Given the description of an element on the screen output the (x, y) to click on. 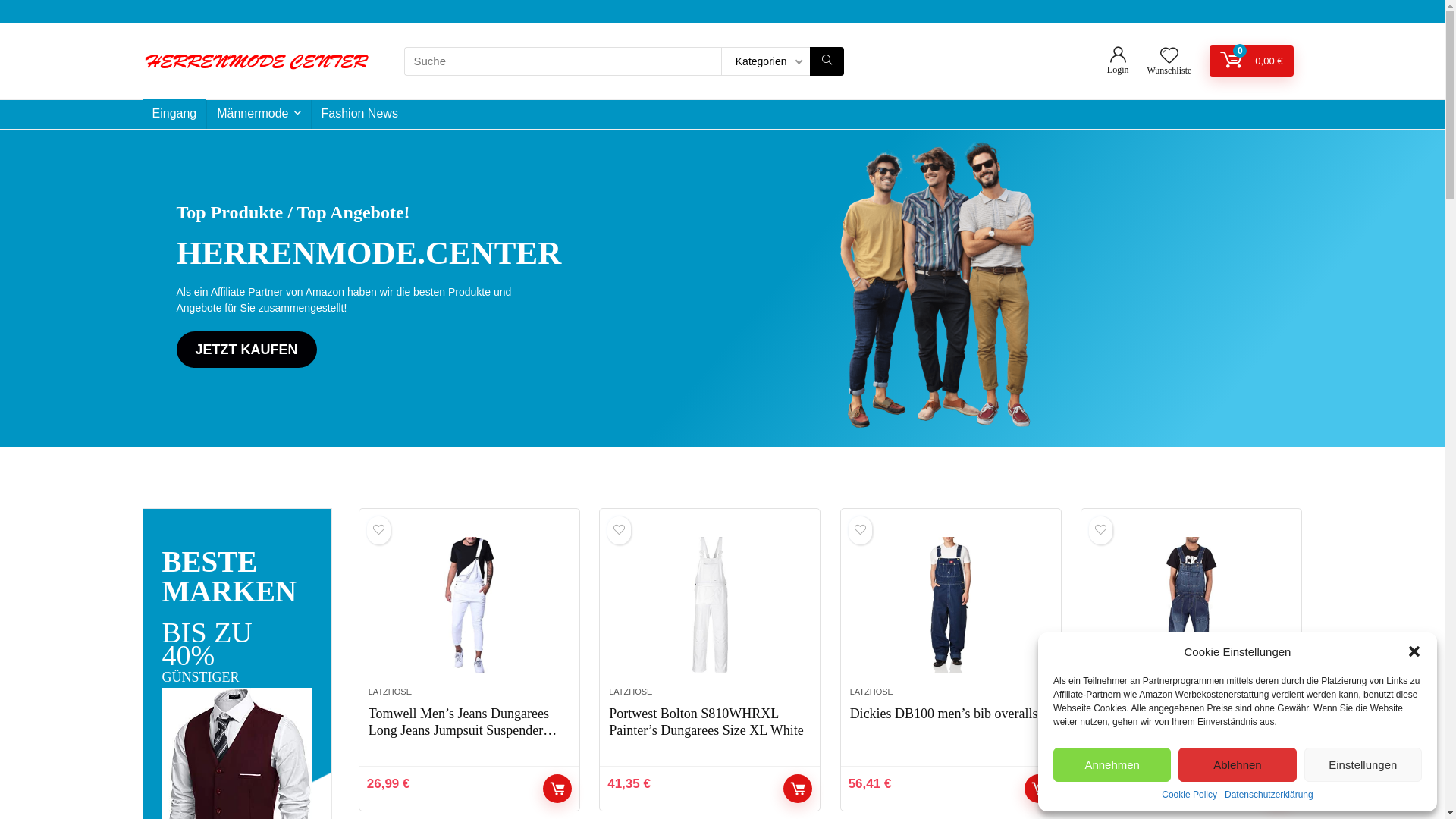
Ablehnen Element type: text (1236, 764)
JETZT BEI AMAZON KAUFEN Element type: text (797, 788)
JETZT BEI AMAZON KAUFEN Element type: text (556, 788)
JETZT KAUFEN Element type: text (245, 349)
JETZT BEI AMAZON KAUFEN Element type: text (1278, 788)
JETZT BEI AMAZON KAUFEN Element type: text (1038, 788)
Einstellungen Element type: text (1362, 764)
Eingang Element type: text (174, 114)
LATZHOSE Element type: text (389, 691)
LATZHOSE Element type: text (871, 691)
LATZHOSE Element type: text (1111, 691)
LATZHOSE Element type: text (630, 691)
Cookie Policy Element type: text (1189, 794)
Annehmen Element type: text (1111, 764)
Fashion News Element type: text (358, 114)
